Given the description of an element on the screen output the (x, y) to click on. 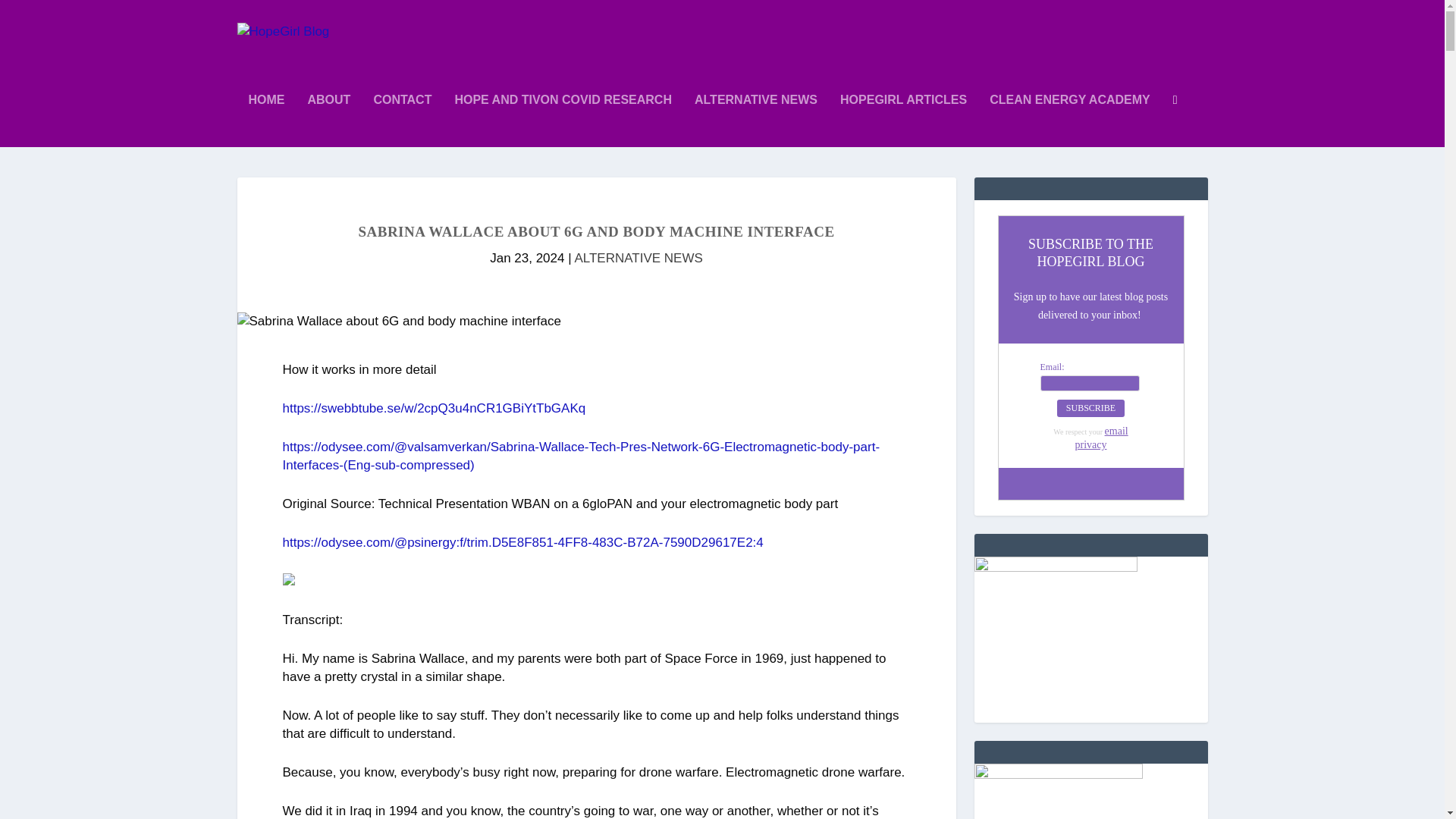
Privacy Policy (1101, 437)
CLEAN ENERGY ACADEMY (1070, 120)
CONTACT (401, 120)
HOPE AND TIVON COVID RESEARCH (562, 120)
SUBSCRIBE (1090, 407)
email privacy (1101, 437)
ALTERNATIVE NEWS (637, 257)
SUBSCRIBE (1090, 407)
HOPEGIRL ARTICLES (903, 120)
ALTERNATIVE NEWS (755, 120)
